Given the description of an element on the screen output the (x, y) to click on. 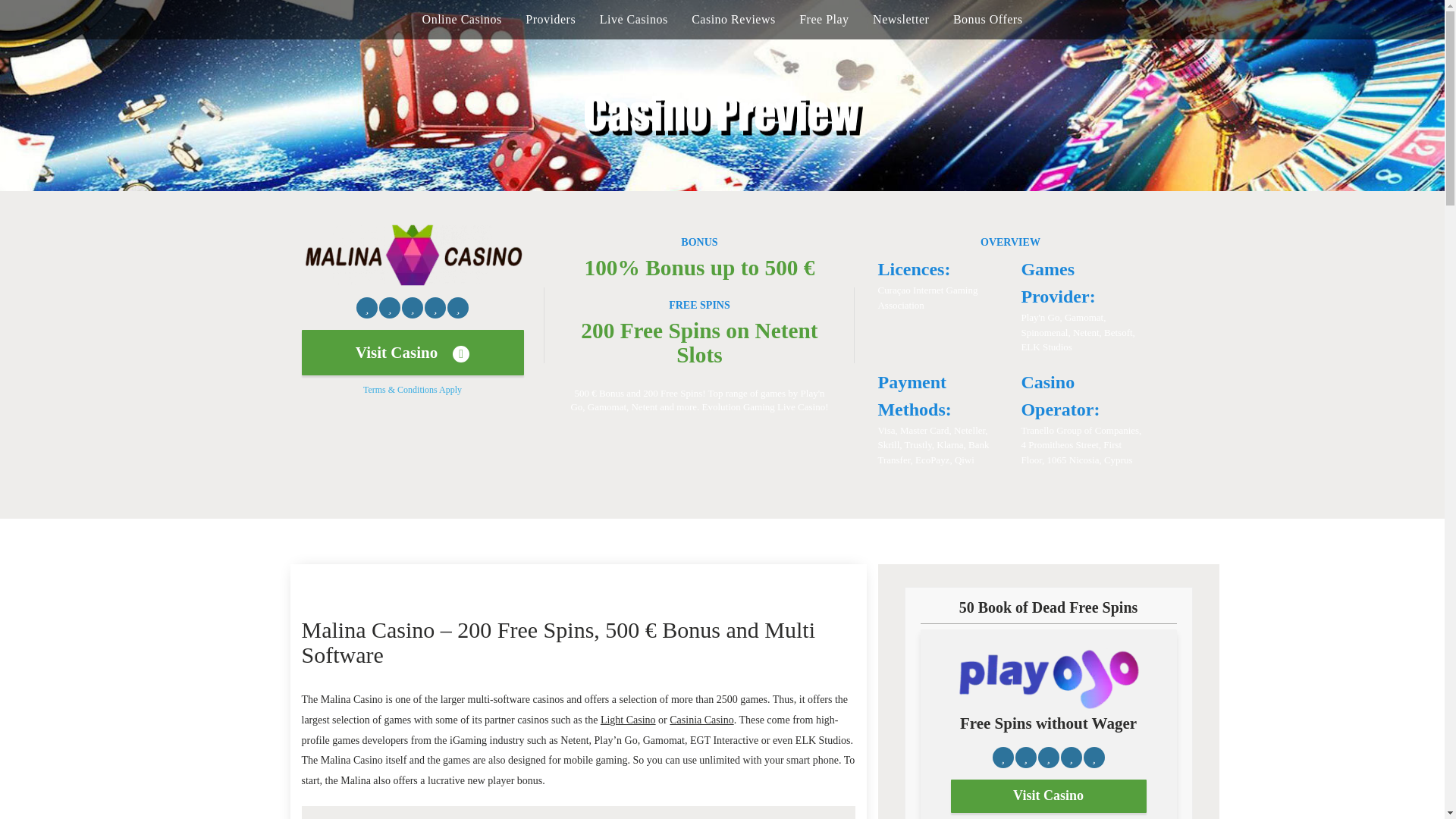
Visit Casino (412, 352)
Online Casinos (462, 19)
Newsletter (900, 19)
Bonus Offers (987, 19)
Light Casino (627, 719)
Providers (550, 19)
Casino Reviews (733, 19)
Free Play (823, 19)
Casinia Casino (701, 719)
Live Casinos (633, 19)
Visit Casino (1048, 796)
